Given the description of an element on the screen output the (x, y) to click on. 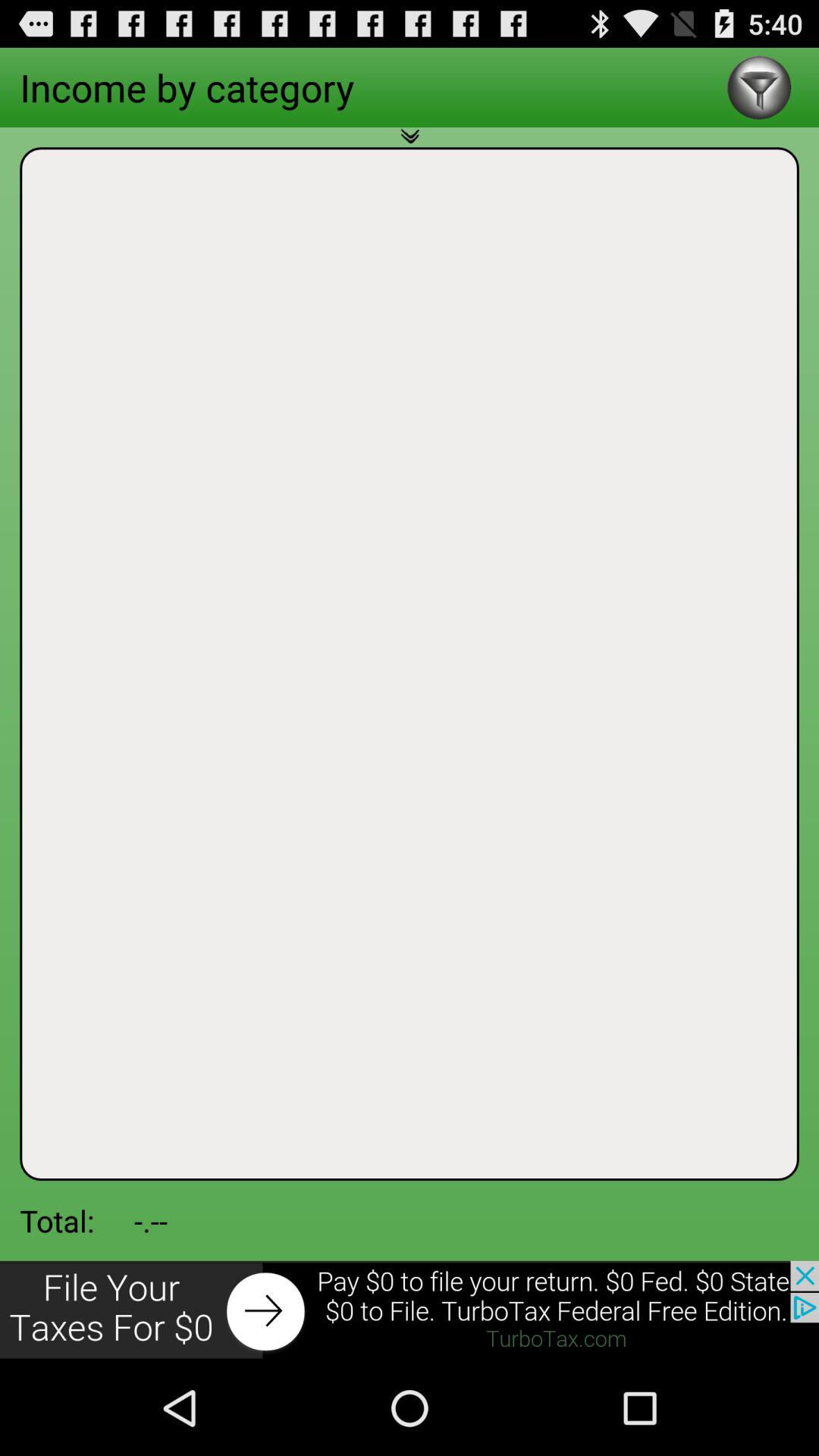
click the advertisement at bottom (409, 1310)
